Given the description of an element on the screen output the (x, y) to click on. 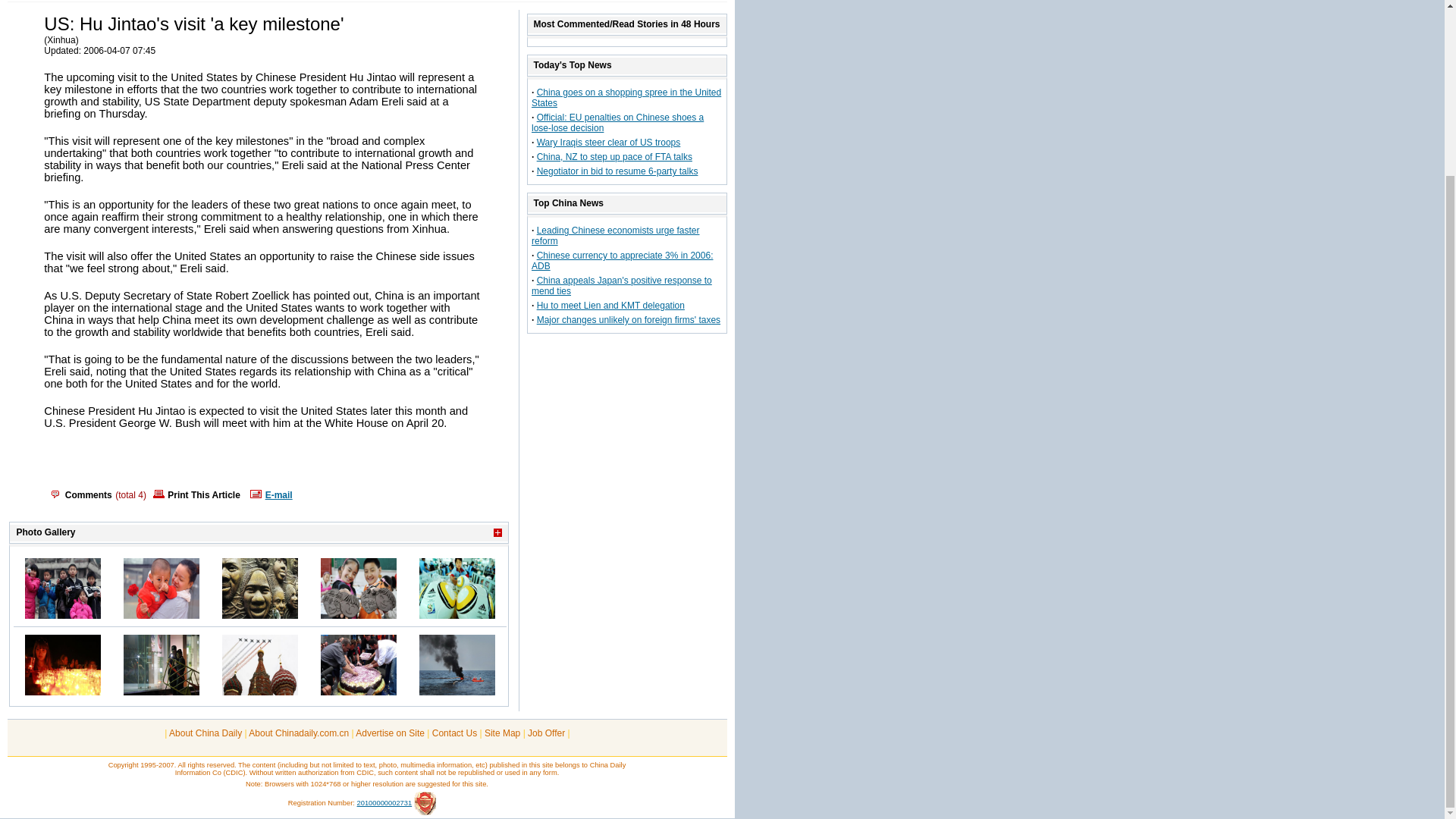
Site Map (501, 733)
China goes on a shopping spree in the United States (625, 97)
Comments (88, 494)
Negotiator in bid to resume 6-party talks (617, 171)
Advertise on Site (390, 733)
Leading Chinese economists urge faster reform (614, 235)
Hu to meet Lien and KMT delegation (610, 305)
Official: EU penalties on Chinese shoes a lose-lose decision (617, 122)
China, NZ to step up pace of FTA talks (615, 156)
E-mail (278, 494)
Wary Iraqis steer clear of US troops (609, 142)
About Chinadaily.com.cn (298, 733)
Contact Us (454, 733)
Print This Article (203, 493)
About China Daily (204, 733)
